Given the description of an element on the screen output the (x, y) to click on. 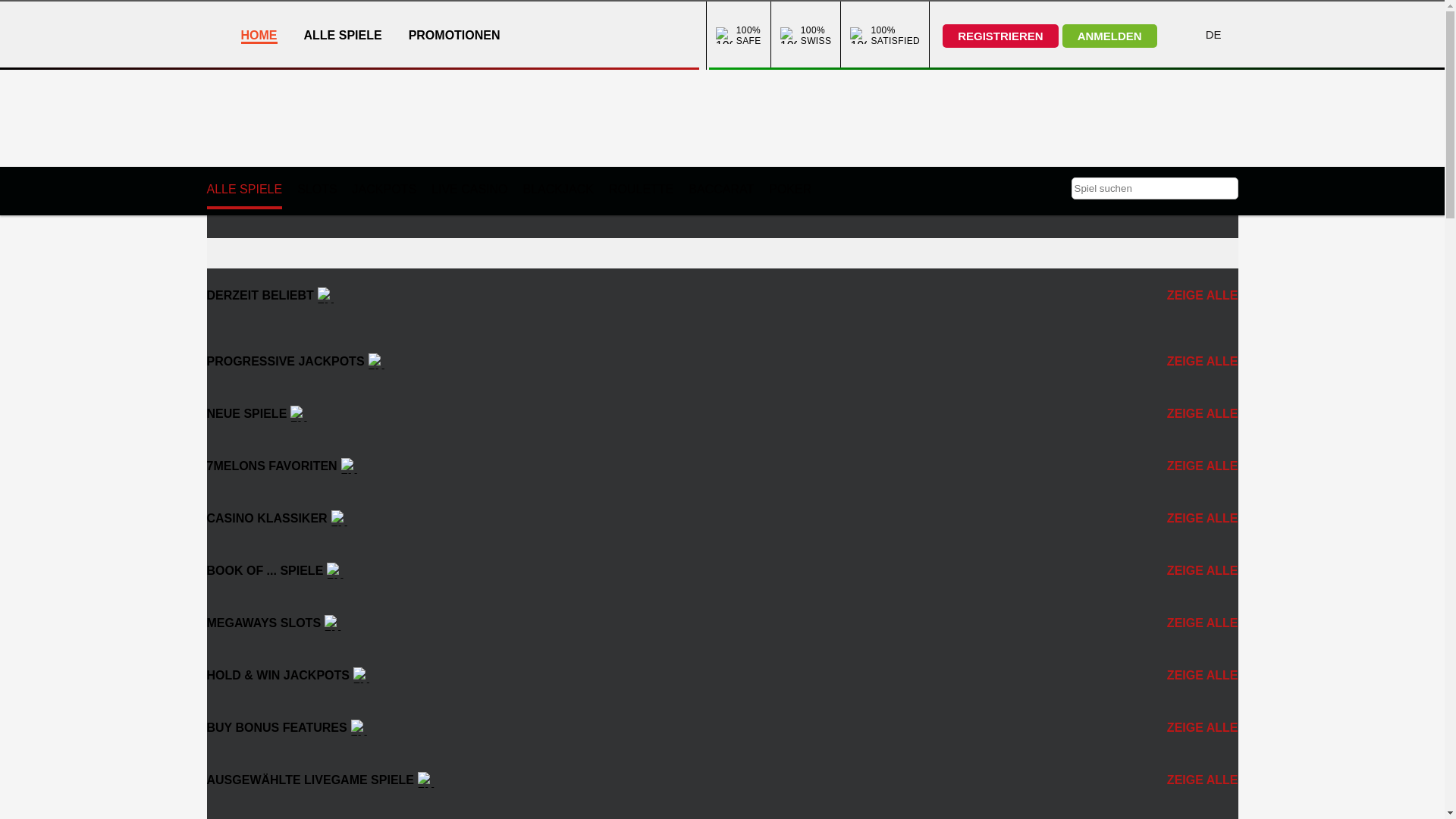
   ZEIGE ALLE Element type: text (1197, 675)
100% SATISFIED Element type: text (884, 35)
HOME Element type: text (259, 35)
JACKPOTS Element type: text (384, 189)
   ZEIGE ALLE Element type: text (1197, 622)
SLOTS Element type: text (316, 189)
ALLE SPIELE Element type: text (244, 190)
   ZEIGE ALLE Element type: text (1197, 779)
LIVE CASINO Element type: text (469, 189)
BLACKJACK Element type: text (558, 189)
   ZEIGE ALLE Element type: text (1197, 570)
   ZEIGE ALLE Element type: text (1197, 413)
   ZEIGE ALLE Element type: text (1197, 361)
ANMELDEN Element type: text (1109, 35)
7Melons Online Casino Element type: hover (359, 727)
   ZEIGE ALLE Element type: text (1197, 295)
ROULETTE Element type: text (640, 189)
   ZEIGE ALLE Element type: text (1197, 518)
7Melons Online Casino Element type: hover (426, 779)
7Melons Online Casino Element type: hover (361, 675)
100% SAFE Element type: text (728, 35)
7Melons Online Casino Element type: hover (298, 413)
7Melons Online Casino Element type: hover (335, 570)
BACCARAT Element type: text (720, 189)
   ZEIGE ALLE Element type: text (1197, 465)
100% SWISS Element type: text (796, 35)
   ZEIGE ALLE Element type: text (1197, 727)
7Melons Online Casino Element type: hover (376, 361)
REGISTRIEREN Element type: text (1000, 35)
7Melons Online Casino Element type: hover (339, 518)
POKER Element type: text (789, 189)
PROMOTIONEN Element type: text (454, 34)
7Melons Online Casino Element type: hover (333, 622)
7Melons Online Casino Element type: hover (349, 465)
7Melons Online Casino Element type: hover (326, 295)
ALLE SPIELE Element type: text (342, 34)
